Given the description of an element on the screen output the (x, y) to click on. 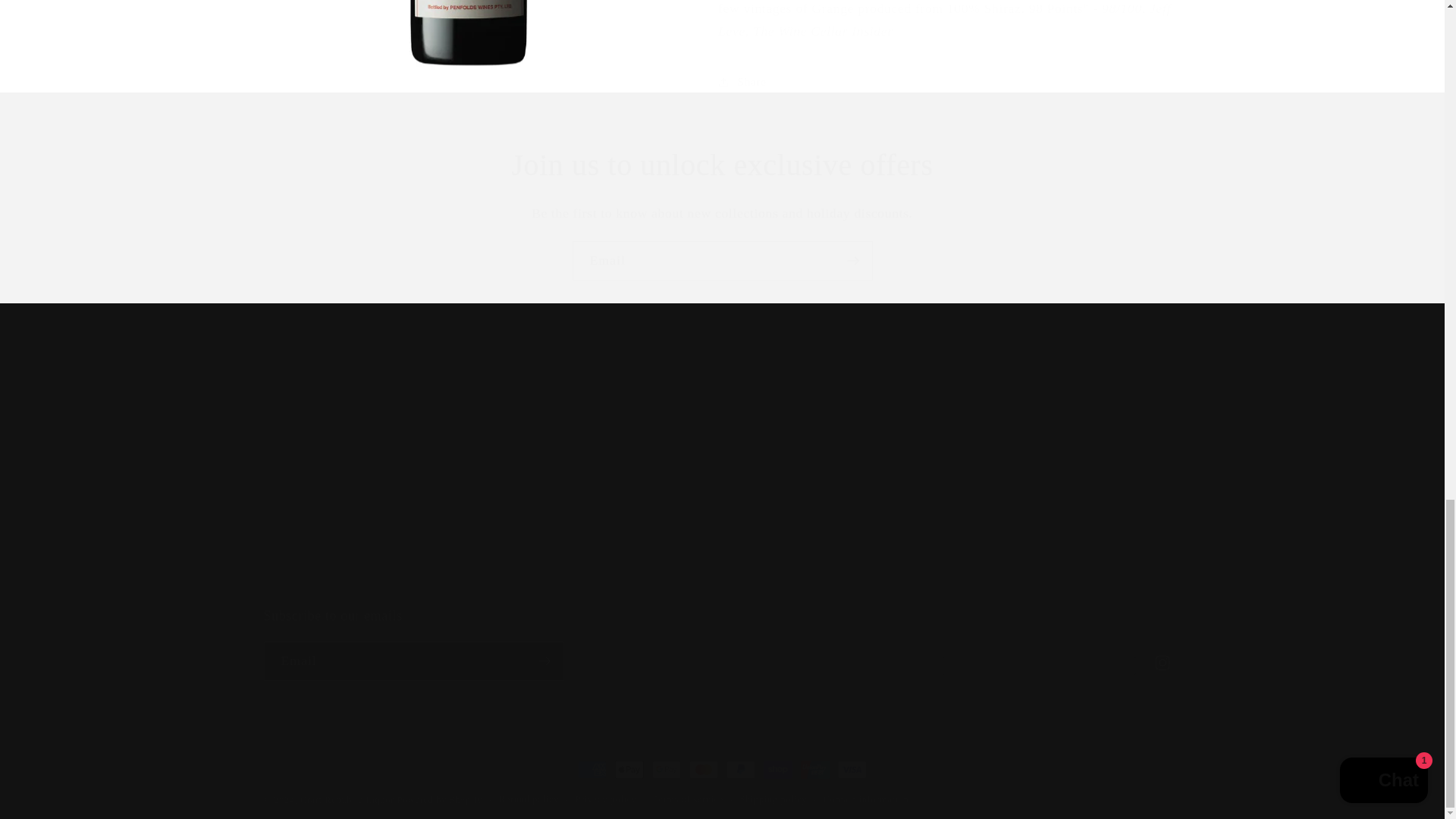
Email (722, 260)
Join us to unlock exclusive offers (722, 165)
